Given the description of an element on the screen output the (x, y) to click on. 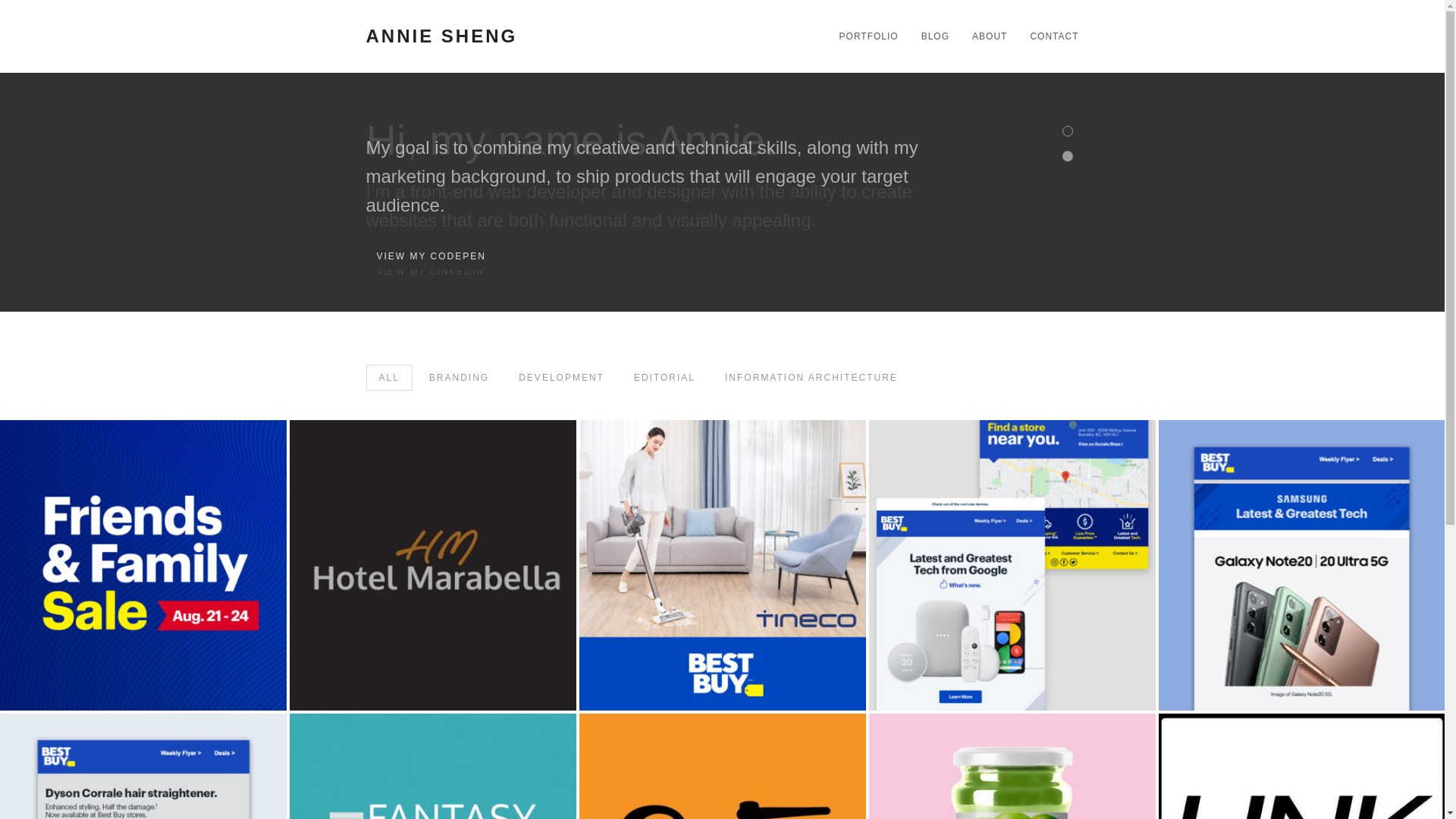
INFORMATION ARCHITECTURE Element type: text (811, 377)
PORTFOLIO Element type: text (863, 36)
Best Buy Canada | Tineco vendor-funded campaign Element type: hover (722, 565)
Best Buy Canada | Google Launch newsletter Element type: hover (1012, 565)
2 Element type: text (1066, 155)
BLOG Element type: text (929, 36)
Best Buy Friends & Family Sale event Element type: hover (143, 565)
CONTACT Element type: text (1048, 36)
VIEW MY LINKEDIN Element type: text (429, 271)
EDITORIAL Element type: text (664, 377)
ALL Element type: text (388, 377)
1 Element type: text (1066, 130)
Hotel Marabella Mobile Website Element type: hover (432, 565)
Samsung Galaxy Note 20 Launch Element type: hover (1301, 565)
ANNIE SHENG Element type: text (471, 36)
ABOUT Element type: text (983, 36)
BRANDING Element type: text (459, 377)
DEVELOPMENT Element type: text (561, 377)
